Given the description of an element on the screen output the (x, y) to click on. 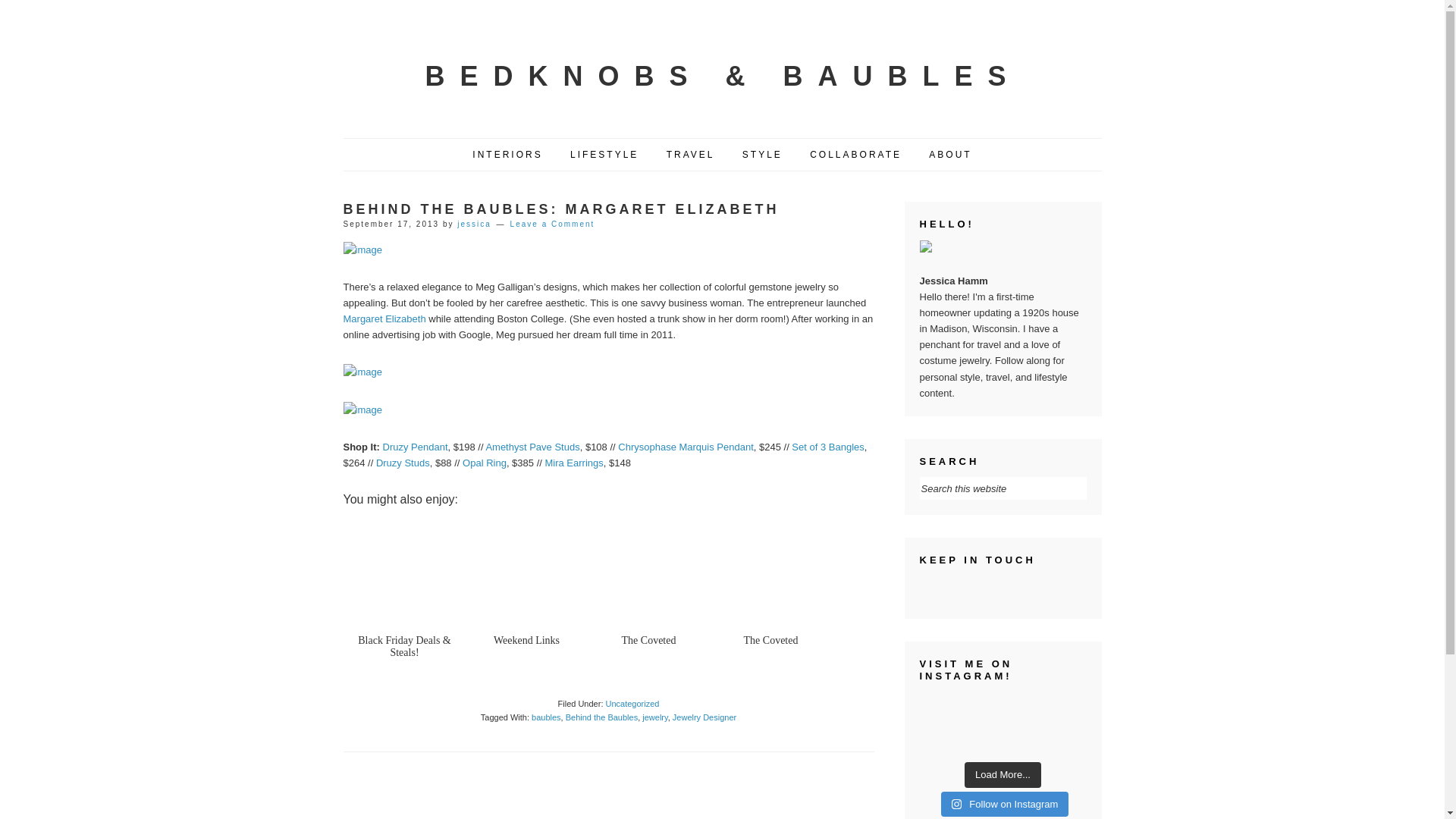
Uncategorized (632, 703)
INTERIORS (507, 154)
Chrysophase Marquis Pendant (685, 446)
ABOUT (949, 154)
Behind the Baubles with Margaret Elizabeth (361, 409)
Amethyst Pave Studs (531, 446)
LIFESTYLE (604, 154)
Opal Ring (484, 462)
STYLE (761, 154)
Mira Earrings (573, 462)
